Given the description of an element on the screen output the (x, y) to click on. 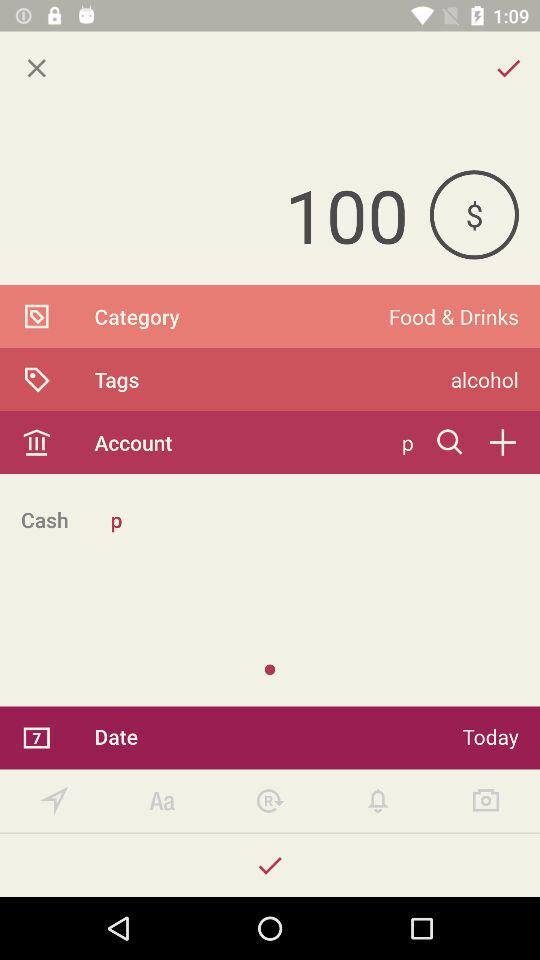
search bar (450, 442)
